Given the description of an element on the screen output the (x, y) to click on. 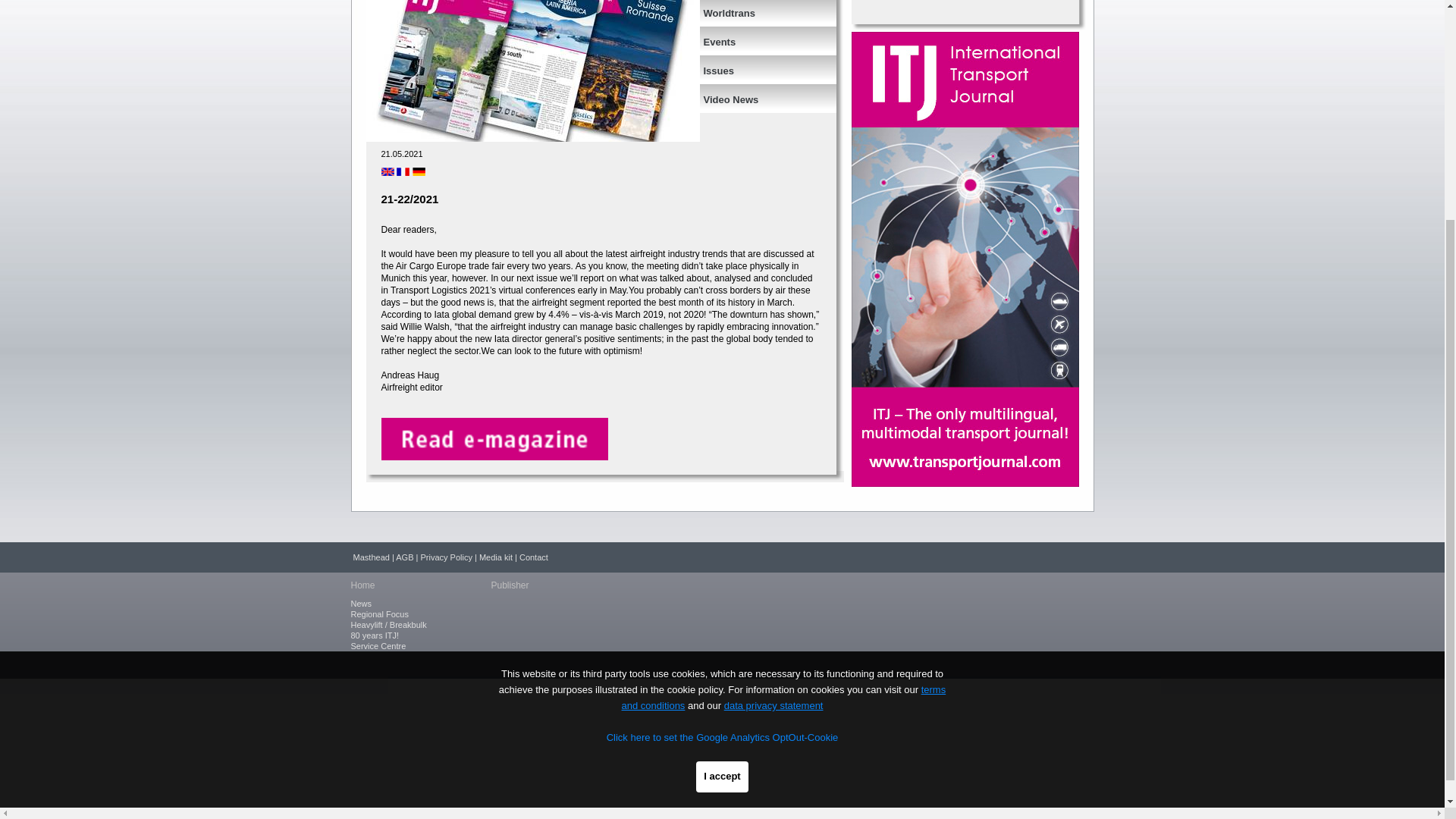
Privacy Policy (445, 556)
Issues (757, 65)
Regional Focus (378, 614)
Events (757, 36)
Worldtrans (757, 9)
Video News (757, 94)
News (360, 603)
Home (362, 584)
Media kit (495, 556)
Contact (533, 556)
Masthead (371, 556)
AGB (404, 556)
Opens internal link in current window (493, 457)
